Given the description of an element on the screen output the (x, y) to click on. 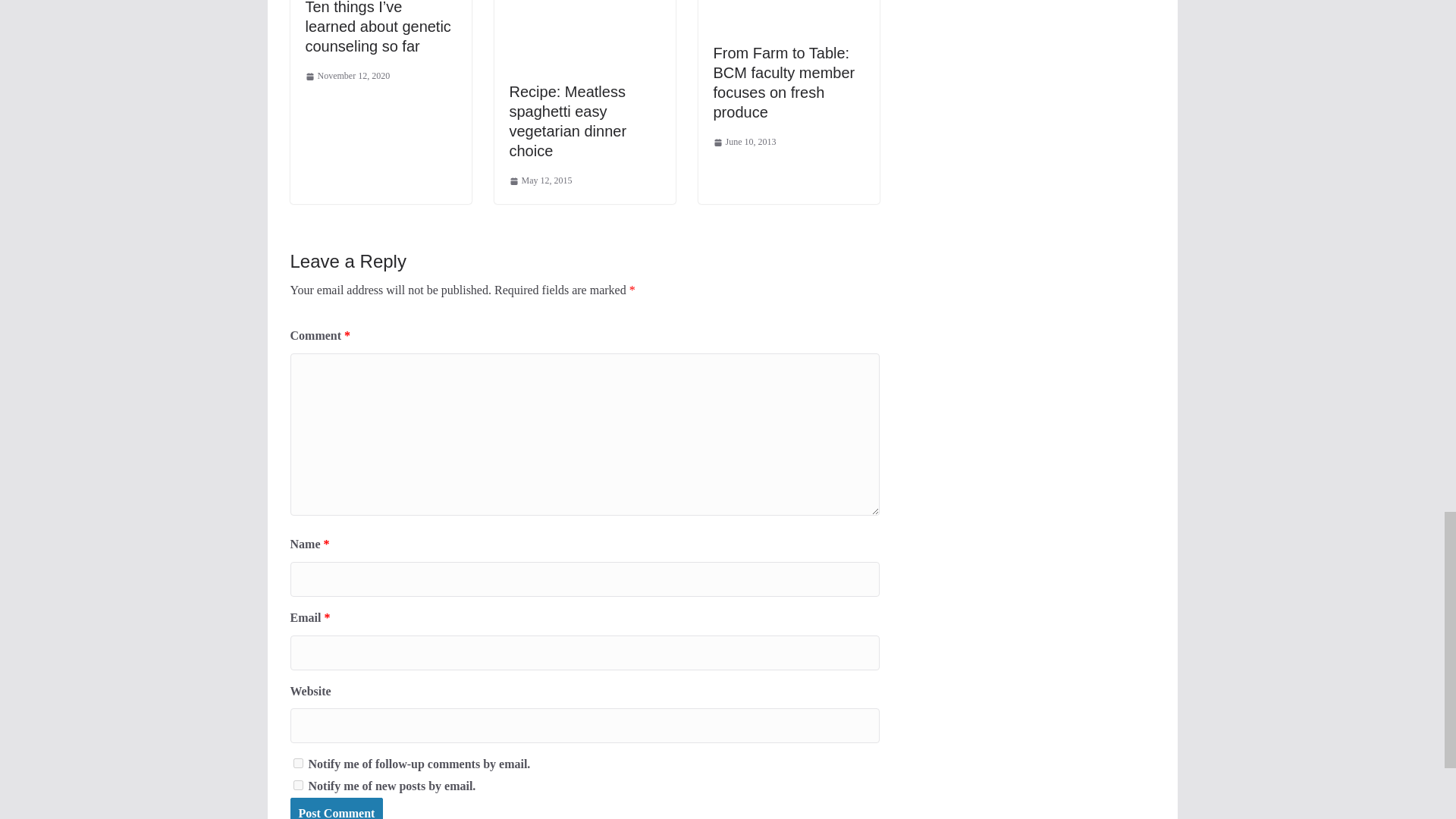
subscribe (297, 763)
Post Comment (335, 808)
8:39 am (347, 76)
subscribe (297, 785)
